Given the description of an element on the screen output the (x, y) to click on. 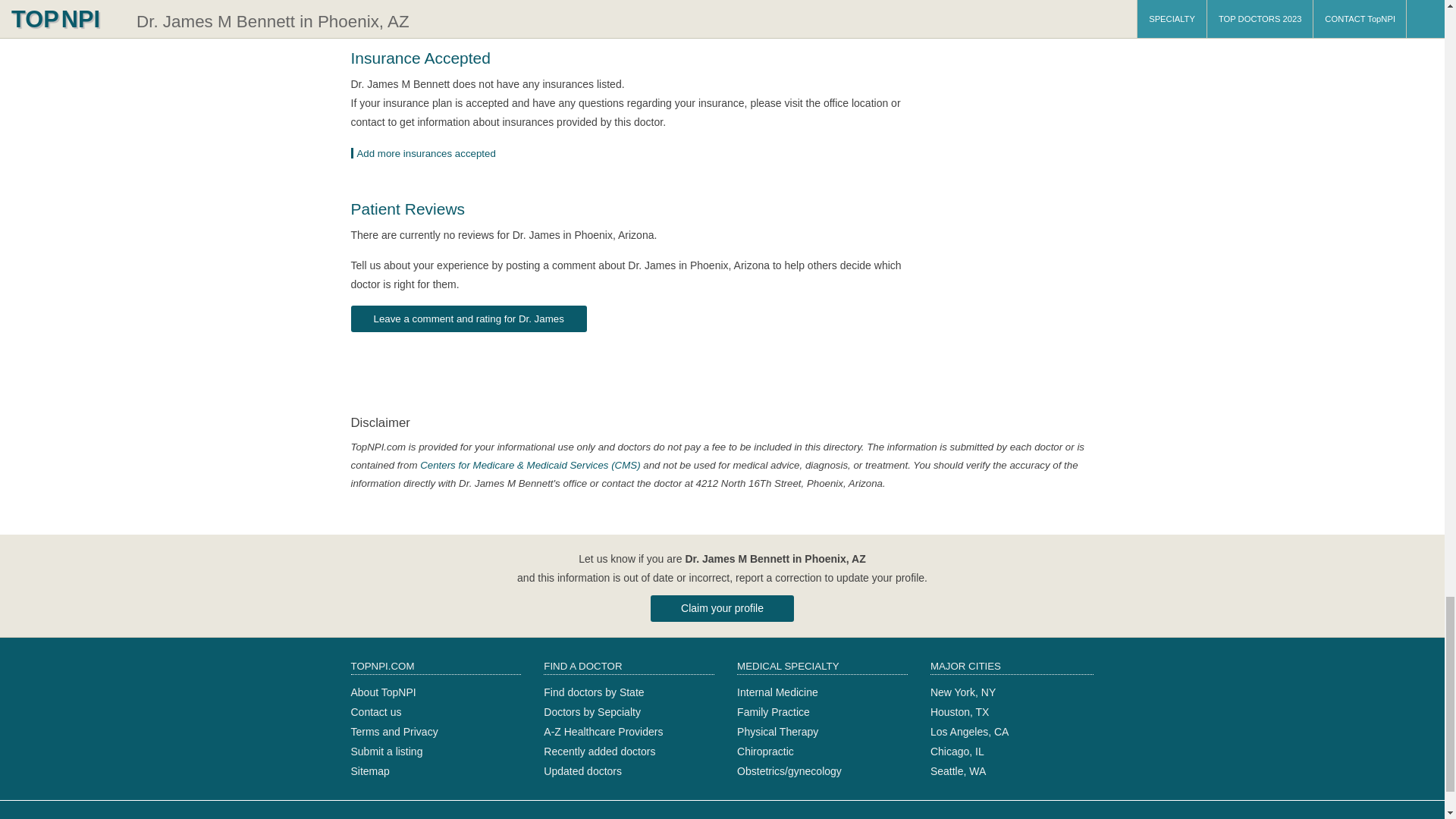
Add more insurances accepted (428, 153)
Claim your profile (721, 608)
Leave a comment and rating for Dr. James (468, 318)
Update location (428, 153)
